Given the description of an element on the screen output the (x, y) to click on. 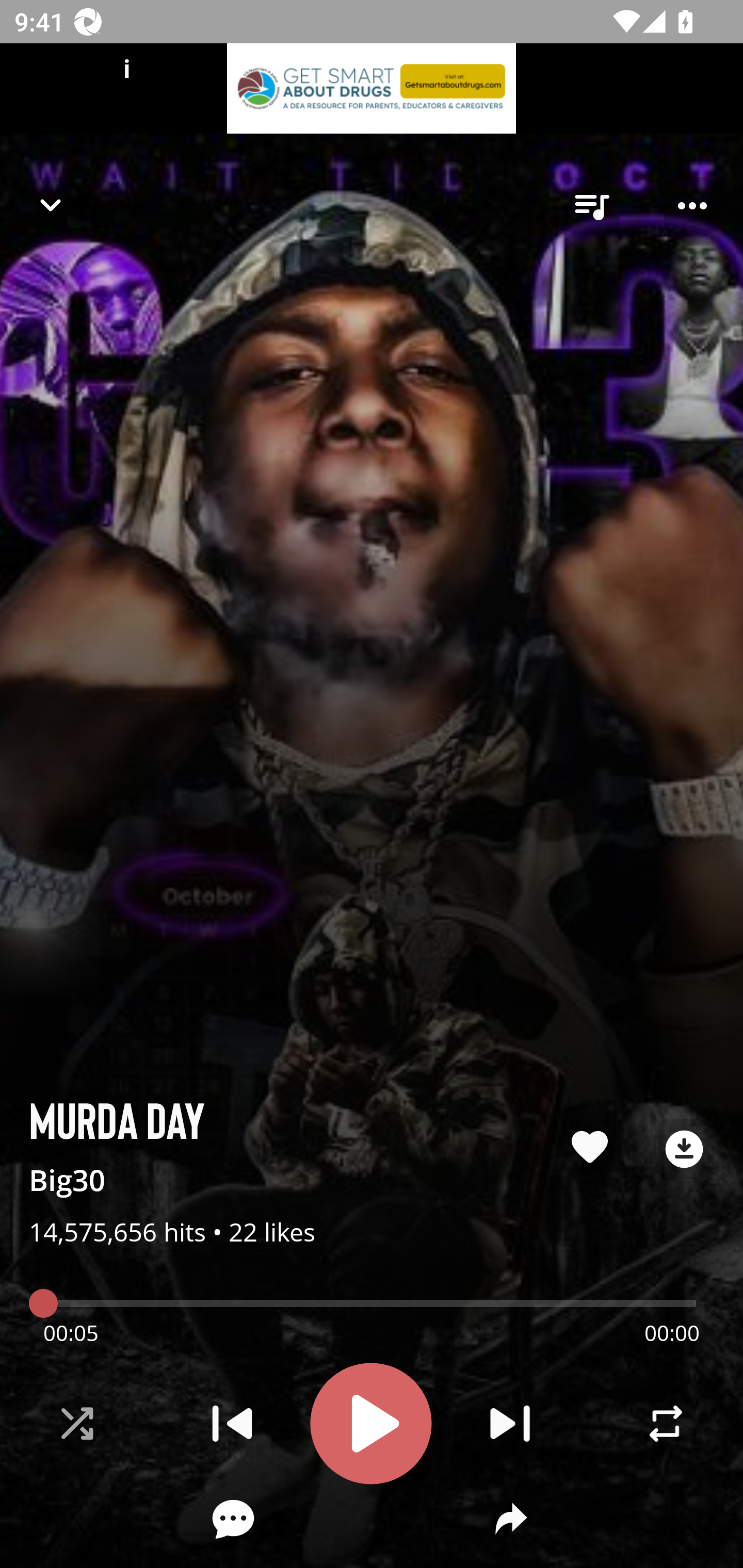
Navigate up (50, 205)
queue (590, 206)
Player options (692, 206)
